Given the description of an element on the screen output the (x, y) to click on. 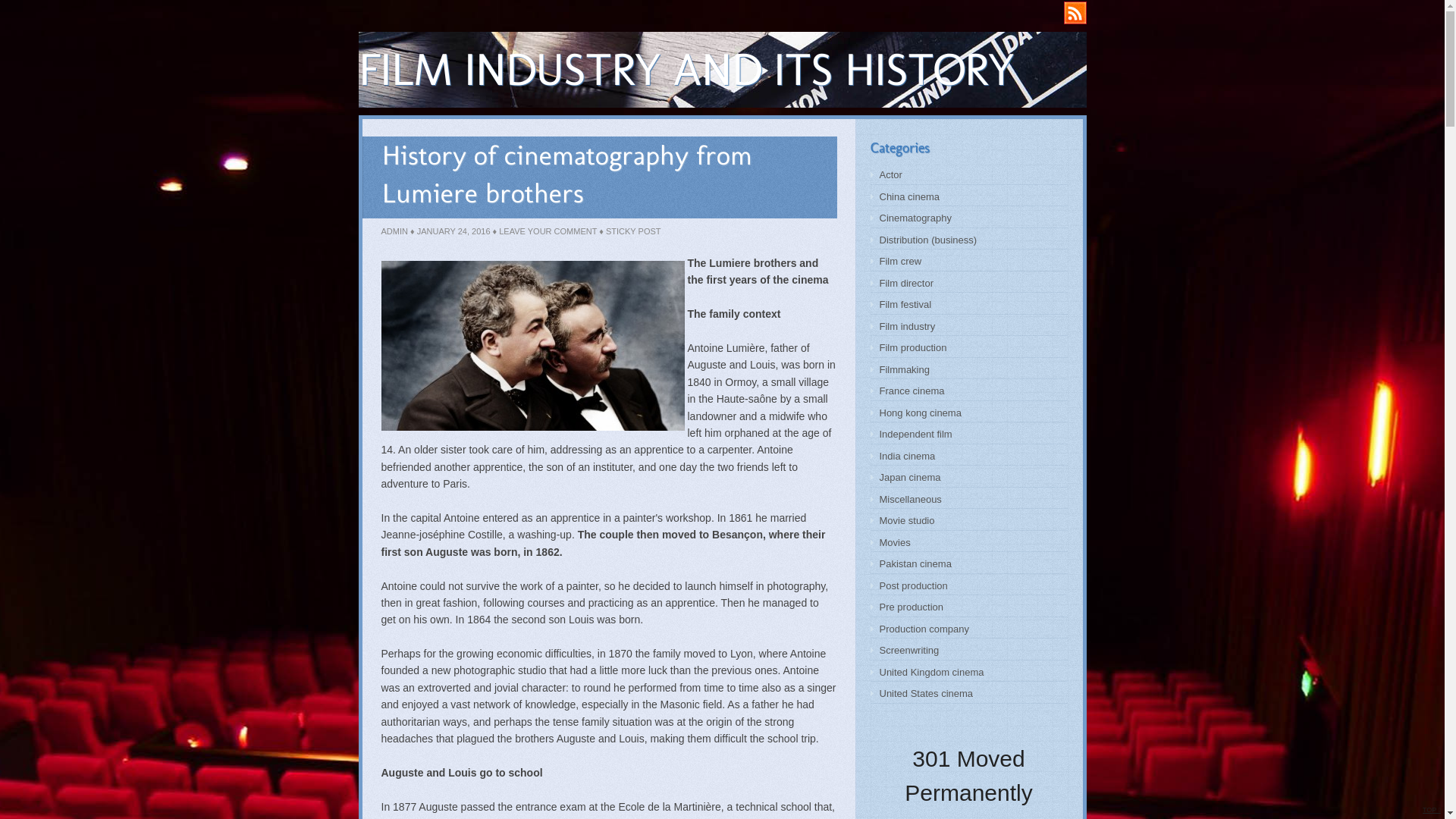
Film industry Element type: text (907, 325)
United Kingdom cinema Element type: text (931, 671)
Miscellaneous Element type: text (910, 498)
India cinema Element type: text (907, 455)
Subscribe Film industry and its history RSS Feed Element type: hover (1074, 12)
Screenwriting Element type: text (909, 649)
Cinematography Element type: text (915, 217)
Pakistan cinema Element type: text (915, 563)
Japan cinema Element type: text (910, 477)
Film director Element type: text (906, 282)
FILM INDUSTRY AND ITS HISTORY Element type: text (685, 69)
Distribution (business) Element type: text (928, 238)
Movies Element type: text (894, 542)
China cinema Element type: text (909, 196)
Independent film Element type: text (915, 433)
Filmmaking Element type: text (904, 369)
JANUARY 24, 2016 Element type: text (453, 230)
History of cinematography from Lumiere brothers Element type: text (567, 173)
LEAVE YOUR COMMENT Element type: text (547, 230)
United States cinema Element type: text (926, 693)
Film festival Element type: text (905, 304)
Film production Element type: text (913, 347)
Pre production Element type: text (911, 606)
ADMIN Element type: text (393, 230)
Actor Element type: text (890, 174)
Movie studio Element type: text (907, 520)
Film crew Element type: text (900, 260)
Hong kong cinema Element type: text (920, 411)
Post production Element type: text (913, 584)
France cinema Element type: text (911, 390)
Production company Element type: text (924, 628)
